Given the description of an element on the screen output the (x, y) to click on. 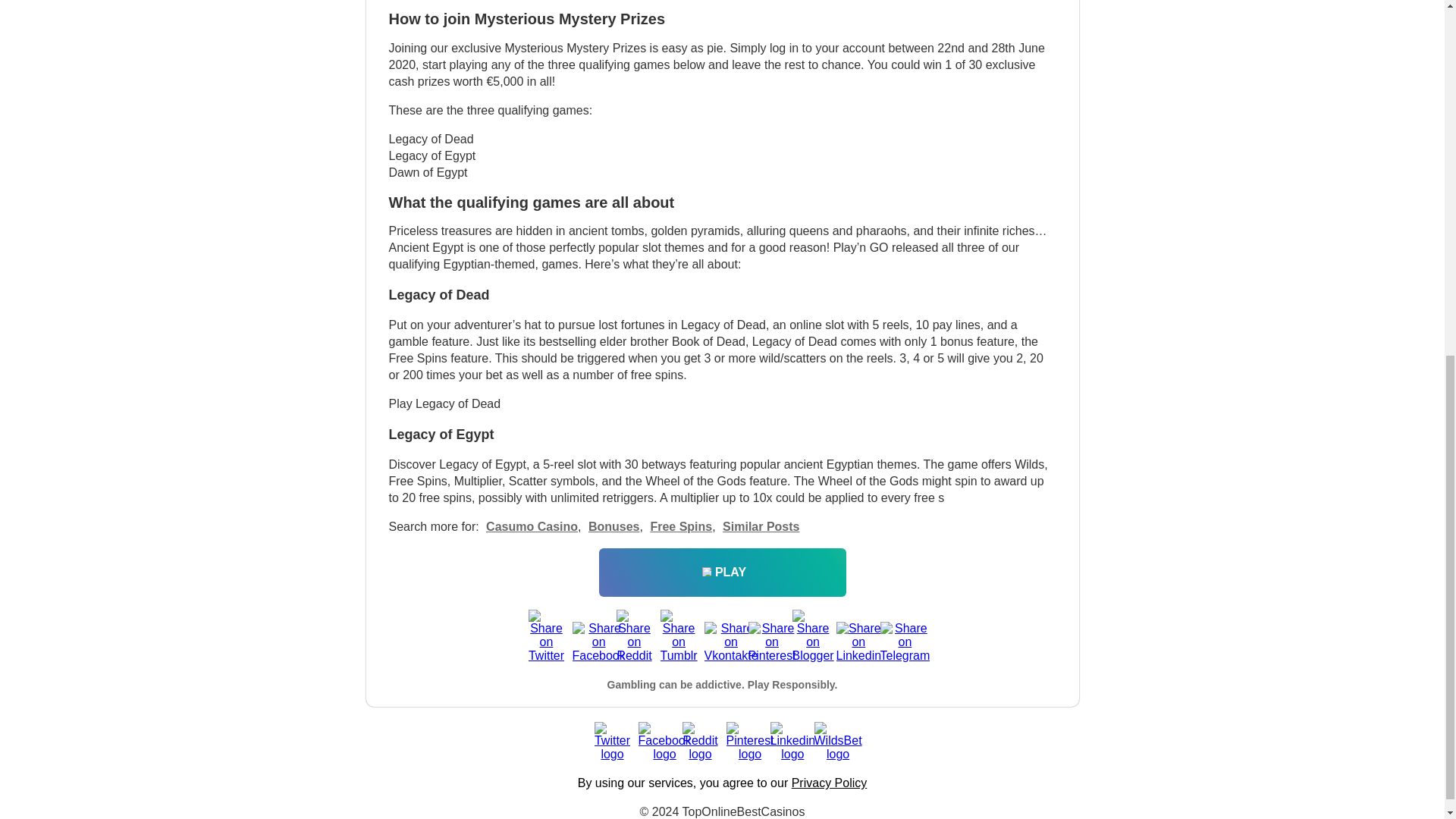
 Share on Reddit (633, 627)
Search for Casumo Casino (532, 526)
Share on Tumblr (677, 627)
Share on Facebook (590, 639)
Share on Linkedin (853, 639)
Search for No Deposit Free Spins (614, 526)
Privacy Policy (829, 782)
Share on Vkontakte (721, 639)
Bonuses (614, 526)
 Share on Twitter (545, 627)
